Given the description of an element on the screen output the (x, y) to click on. 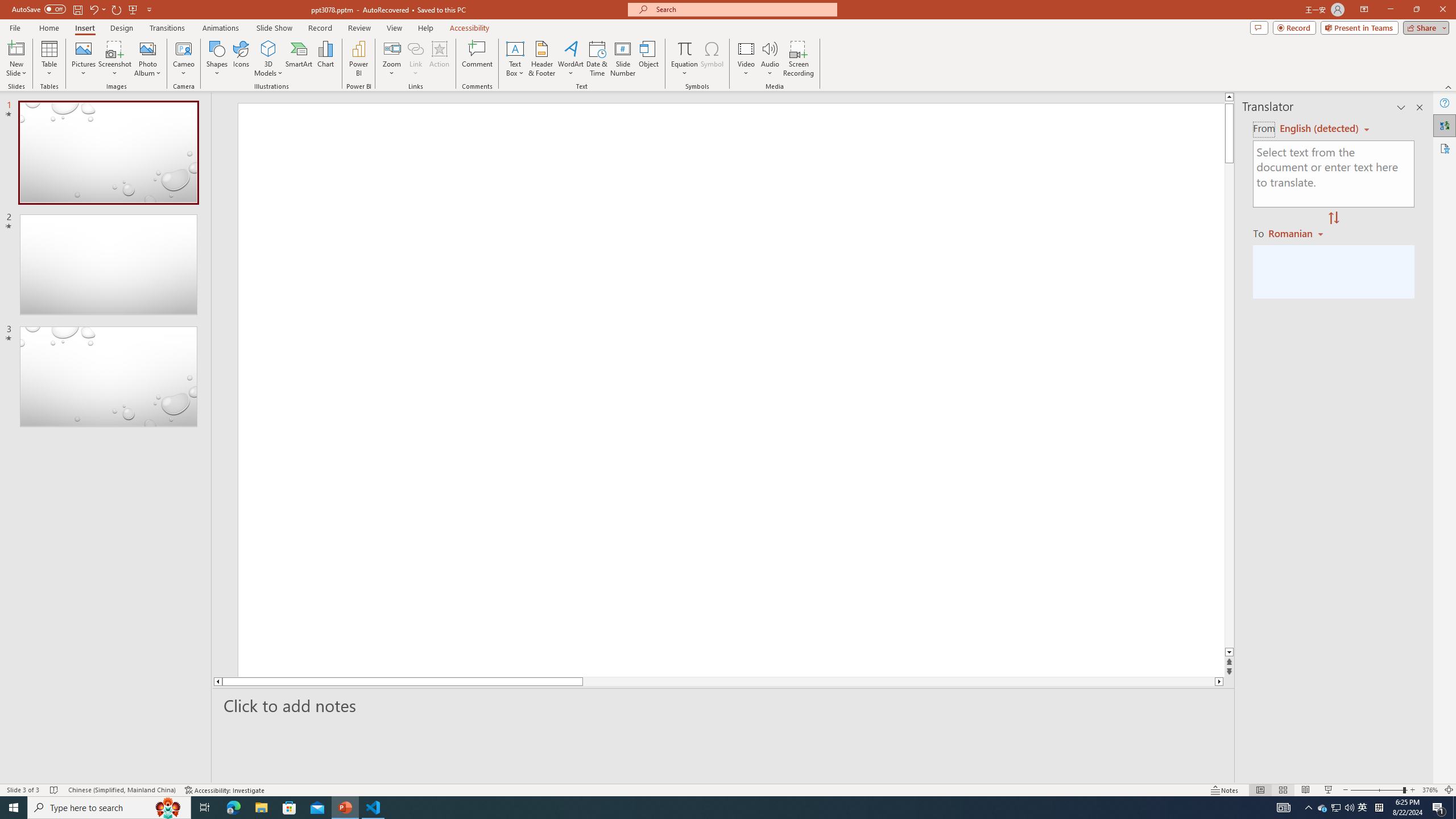
Romanian (1296, 232)
Zoom 376% (1430, 790)
Link (415, 58)
Icons (240, 58)
Screenshot (114, 58)
